Given the description of an element on the screen output the (x, y) to click on. 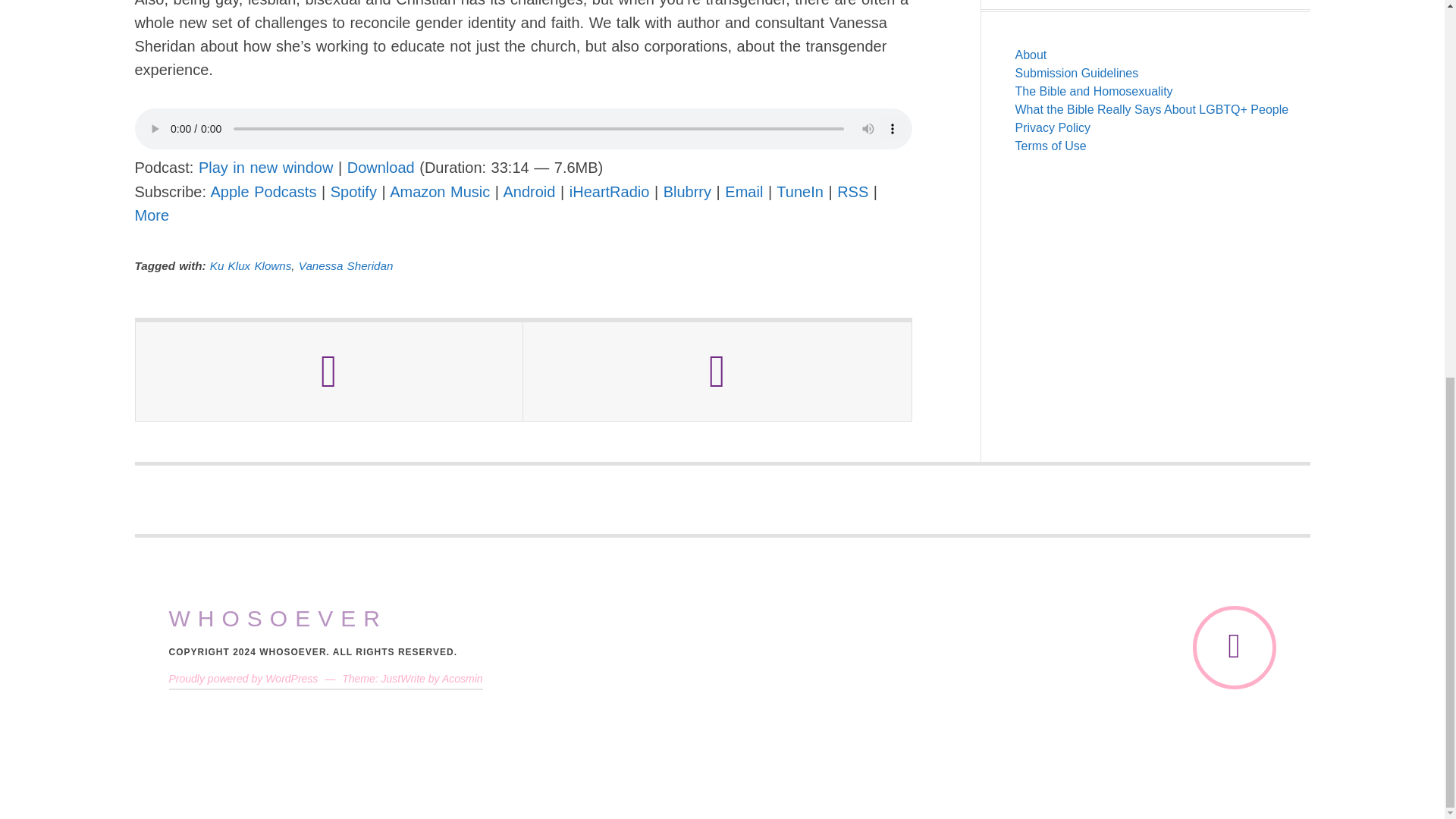
Spotify (353, 191)
Ku Klux Klowns (250, 265)
Subscribe on Amazon Music (439, 191)
More (152, 215)
Play in new window (265, 167)
Subscribe on iHeartRadio (609, 191)
Vanessa Sheridan (345, 265)
Email (743, 191)
Android (529, 191)
Subscribe on Blubrry (687, 191)
